Given the description of an element on the screen output the (x, y) to click on. 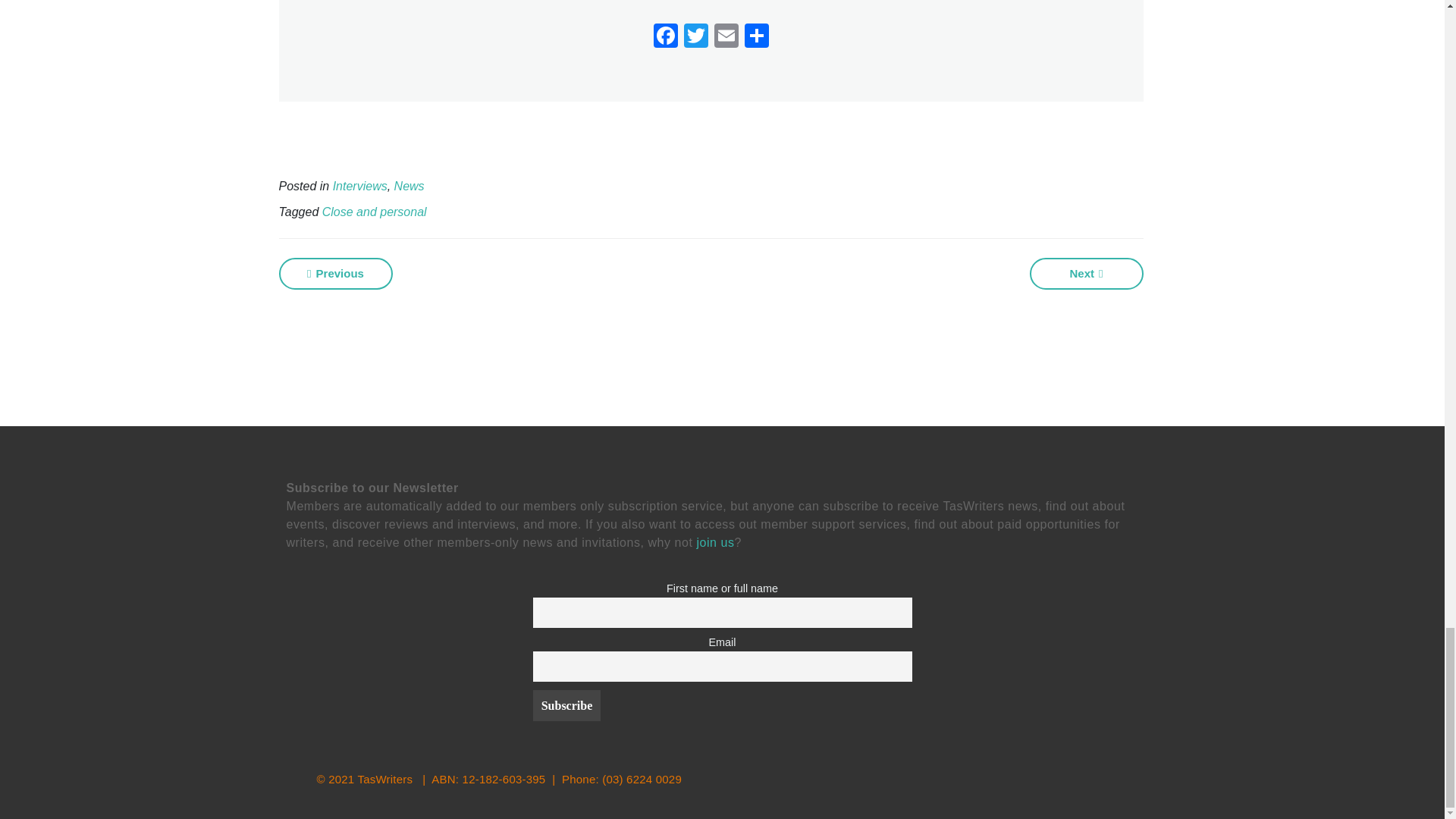
Next (1085, 273)
Subscribe (565, 705)
Interviews (360, 185)
News (409, 185)
Subscribe (565, 705)
Close and personal (373, 211)
Email (726, 37)
join us (714, 542)
Previous (336, 273)
Twitter (696, 37)
